Given the description of an element on the screen output the (x, y) to click on. 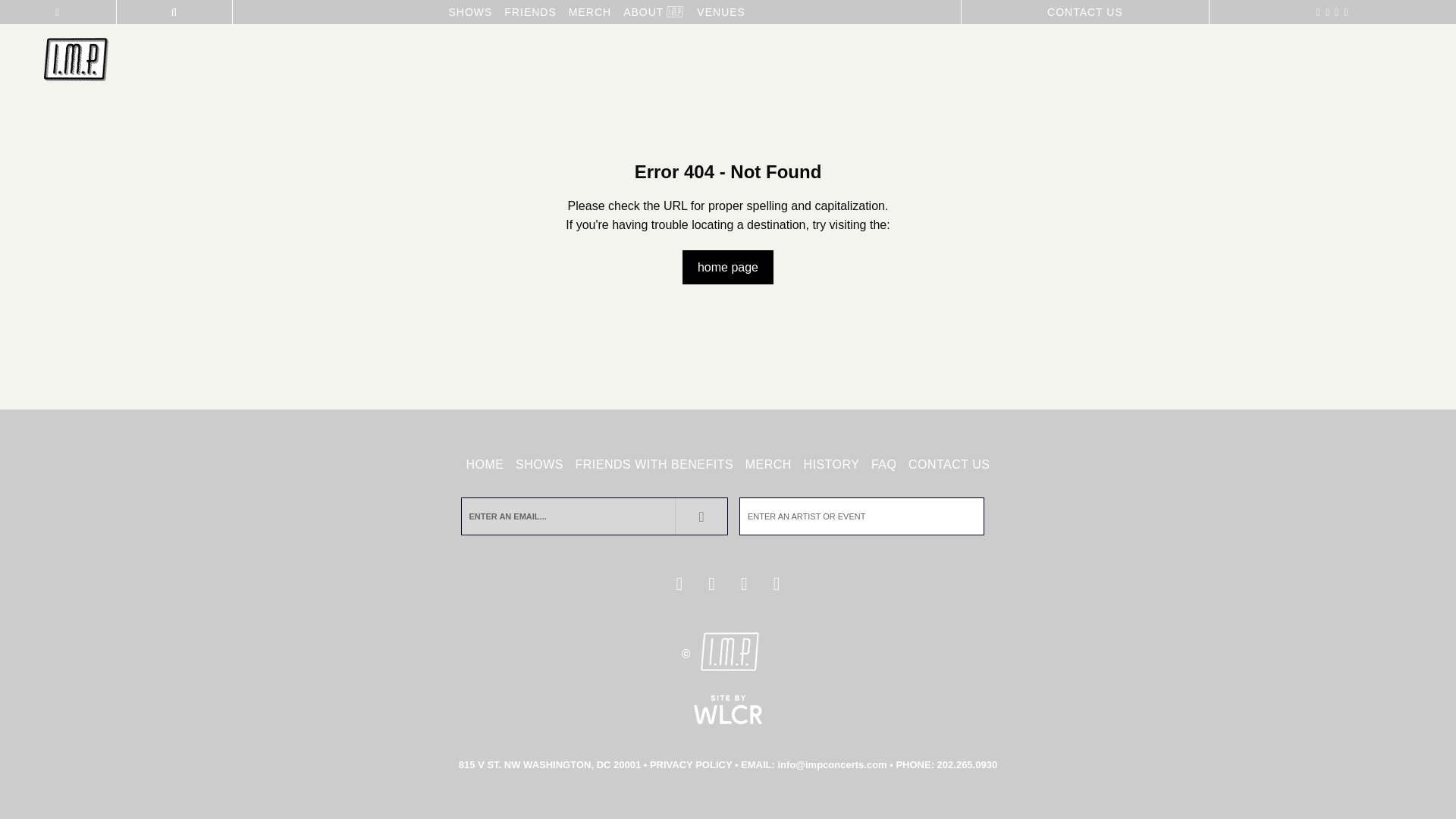
Search for: (861, 515)
HISTORY (830, 465)
Search (959, 515)
MERCH (589, 12)
home page (727, 267)
SHOWS (540, 465)
HOME (484, 465)
Subscribe (702, 516)
IMP (75, 60)
CONTACT US (1084, 12)
ABOUT (643, 12)
CONTACT US (948, 465)
SHOWS (469, 12)
FRIENDS WITH BENEFITS (654, 465)
FRIENDS (529, 12)
